Given the description of an element on the screen output the (x, y) to click on. 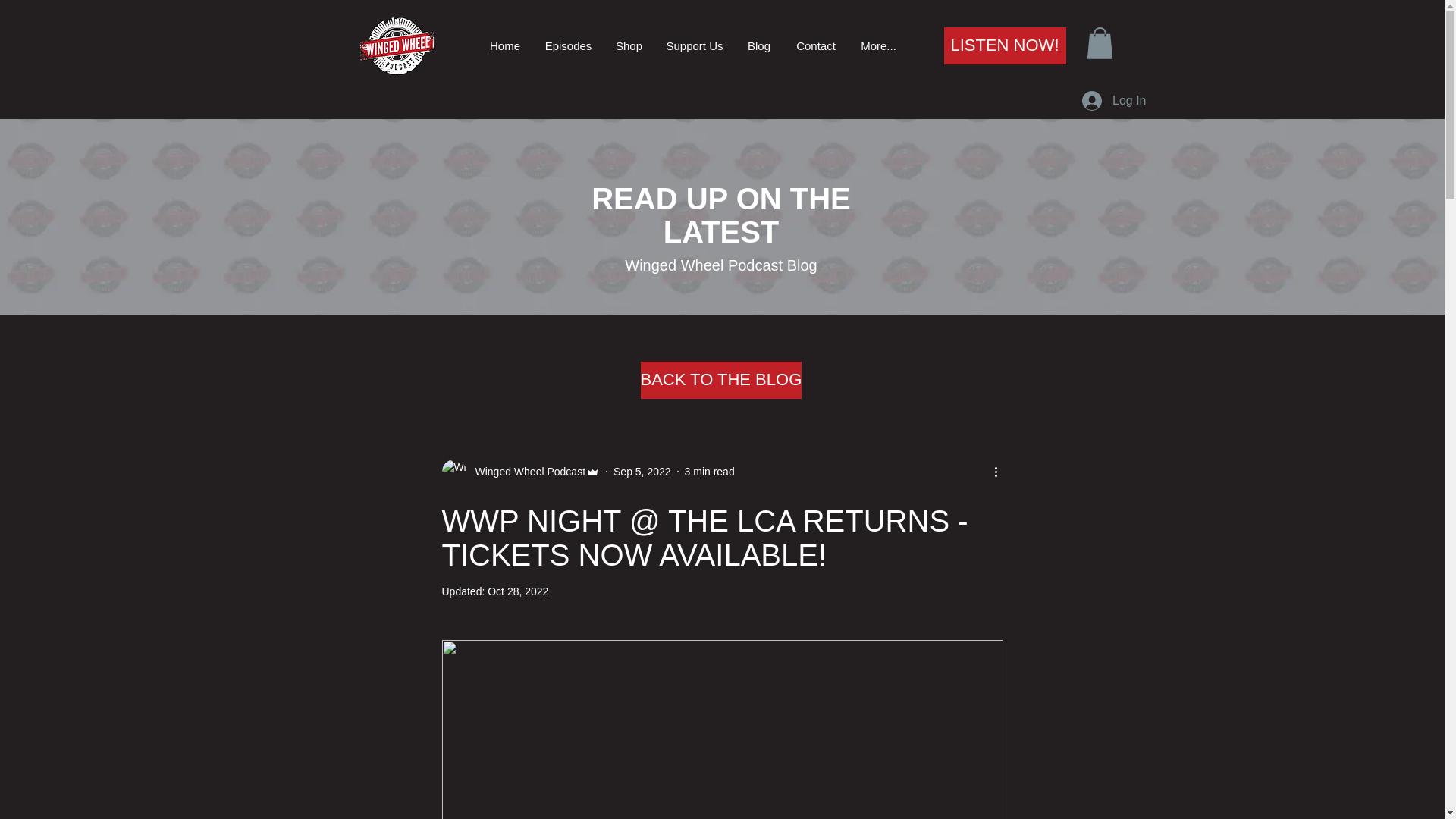
LISTEN NOW! (1004, 45)
Home (504, 45)
Blog (758, 45)
Log In (1113, 100)
Shop (628, 45)
3 min read (709, 471)
Episodes (567, 45)
BACK TO THE BLOG (721, 379)
Oct 28, 2022 (517, 591)
Winged Wheel Podcast (520, 471)
